Given the description of an element on the screen output the (x, y) to click on. 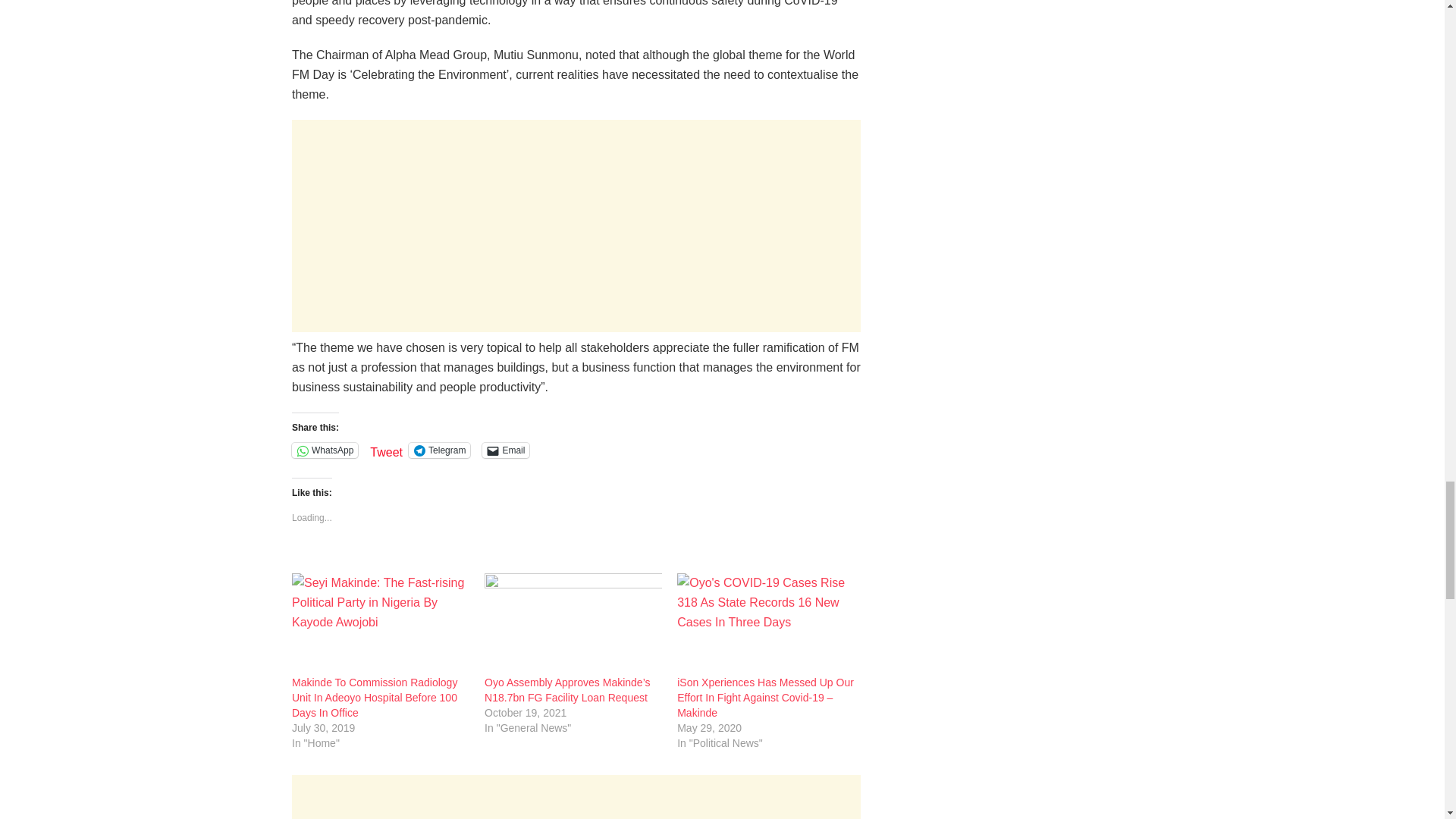
Click to share on Telegram (439, 450)
Click to email a link to a friend (505, 450)
Click to share on WhatsApp (325, 450)
